Given the description of an element on the screen output the (x, y) to click on. 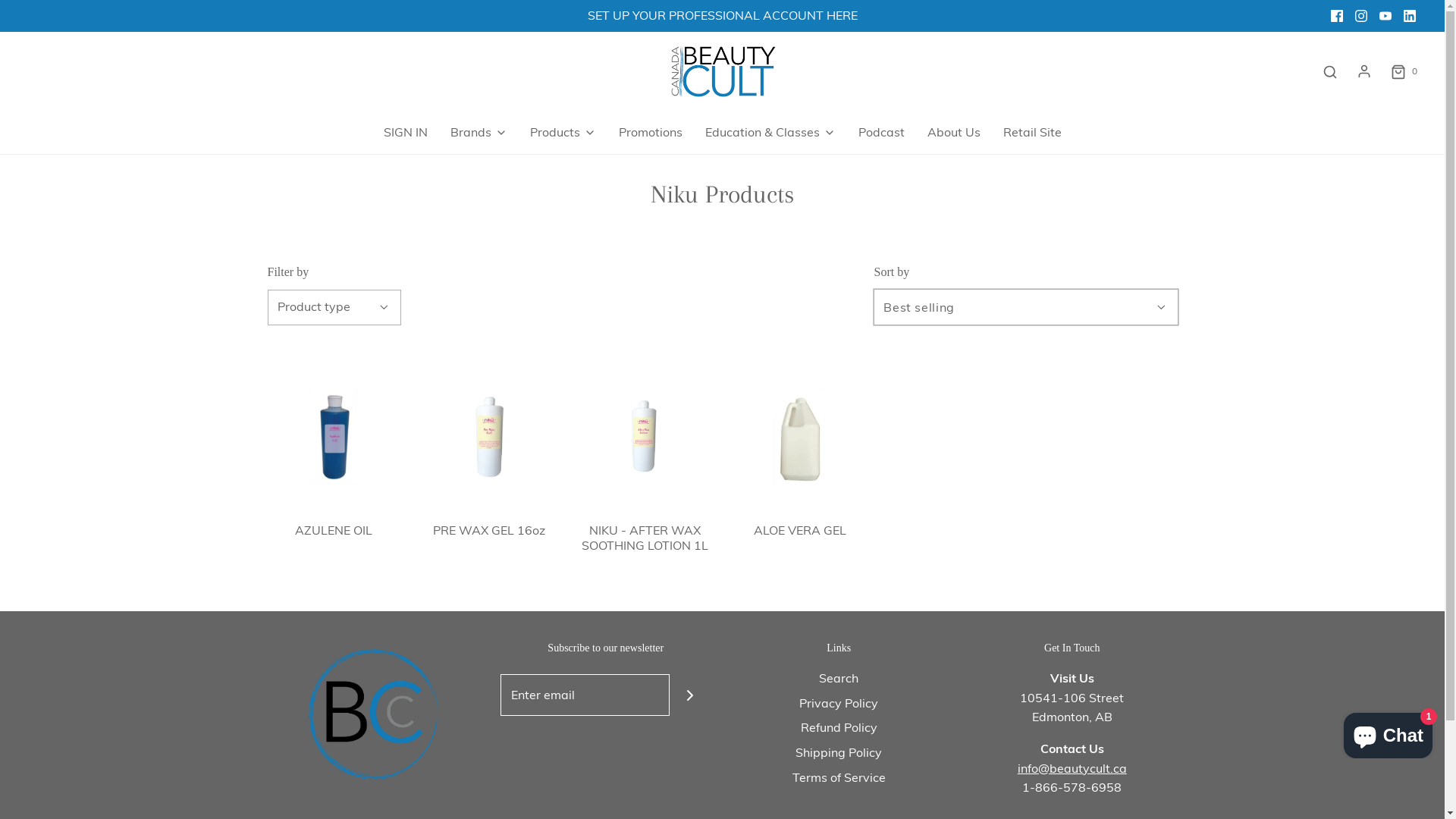
YouTube icon Element type: text (1385, 15)
ALOE VERA GEL Element type: text (800, 528)
info@beautycult.ca Element type: text (1071, 767)
Search Element type: text (838, 680)
Promotions Element type: text (650, 132)
AZULENE OIL Element type: hover (332, 436)
Facebook icon Element type: text (1336, 15)
Refund Policy Element type: text (838, 730)
0 Element type: text (1402, 71)
LinkedIn icon Element type: text (1409, 15)
Search Element type: hover (1329, 71)
NIKU - AFTER WAX SOOTHING LOTION 1L Element type: hover (643, 436)
NIKU - AFTER WAX SOOTHING LOTION 1L Element type: text (643, 536)
Terms of Service Element type: text (838, 780)
Shipping Policy Element type: text (838, 755)
AZULENE OIL Element type: text (332, 528)
Privacy Policy Element type: text (838, 705)
About Us Element type: text (952, 132)
SET UP YOUR PROFESSIONAL ACCOUNT HERE Element type: text (721, 14)
Podcast Element type: text (881, 132)
Education & Classes Element type: text (770, 132)
ALOE VERA GEL Element type: hover (800, 436)
Shopify online store chat Element type: hover (1388, 732)
PRE WAX GEL 16oz Element type: hover (489, 436)
Retail Site Element type: text (1031, 132)
SIGN IN Element type: text (405, 132)
Brands Element type: text (478, 132)
PRE WAX GEL 16oz Element type: text (489, 528)
Log in Element type: hover (1364, 70)
Instagram icon Element type: text (1361, 15)
Products Element type: text (562, 132)
